Given the description of an element on the screen output the (x, y) to click on. 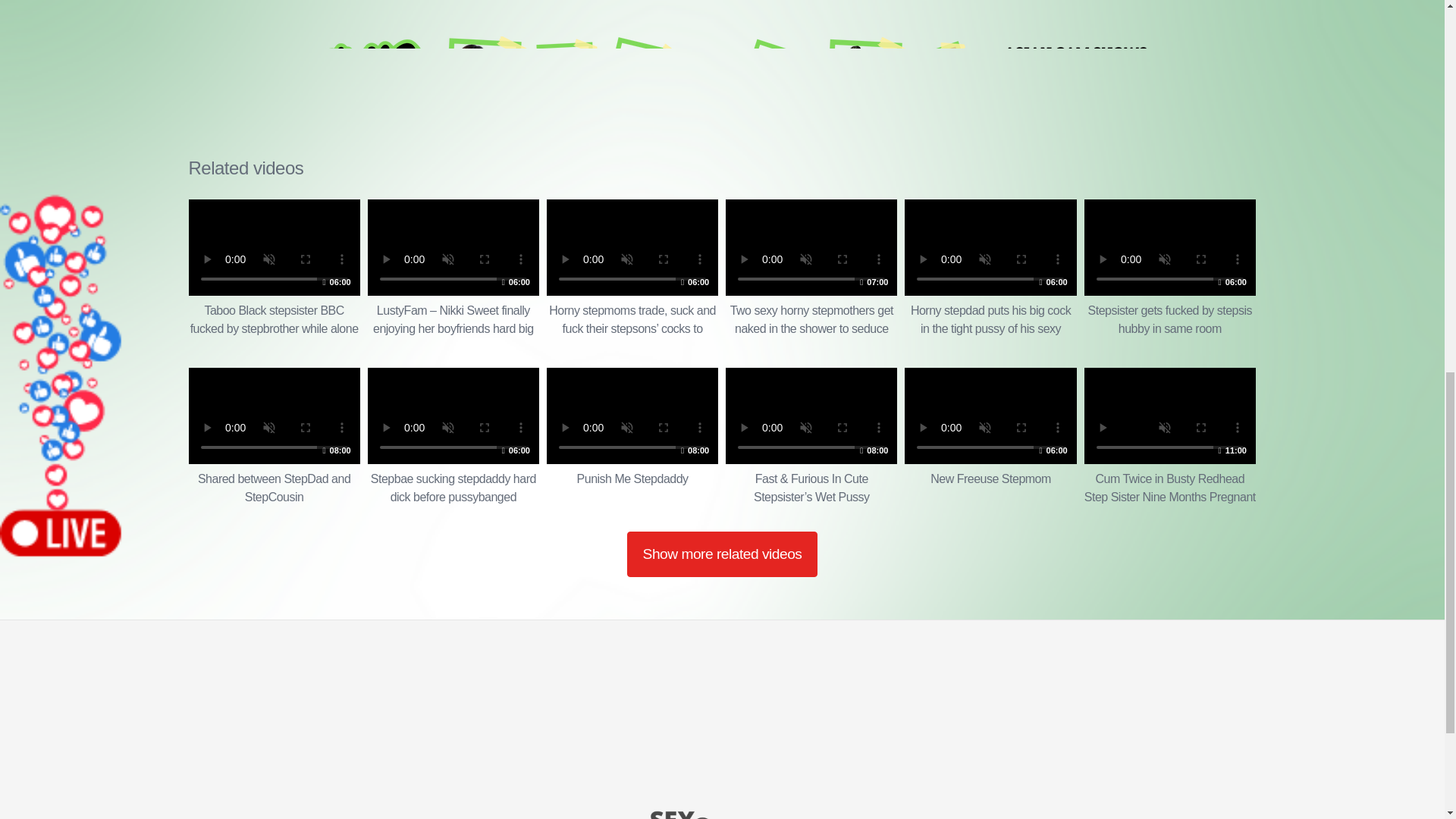
Show more related videos (721, 554)
Punish Me Stepdaddy (453, 436)
Shared between StepDad and StepCousin (632, 436)
SWAG Asian Webcam Live Sex and X Movies (273, 436)
